Given the description of an element on the screen output the (x, y) to click on. 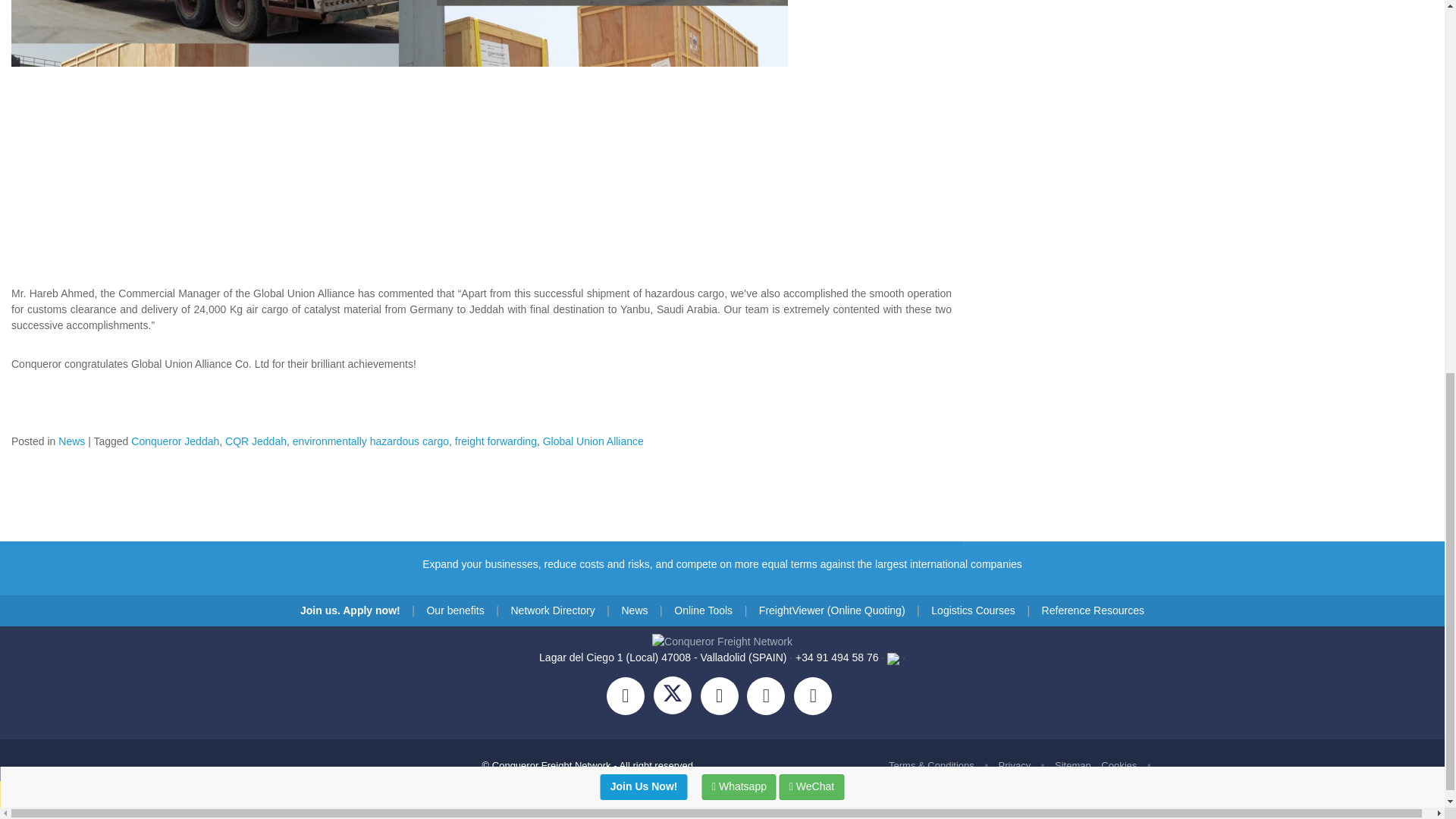
CQR Jeddah (255, 440)
Join us. Apply now! (349, 610)
Network Directory (552, 610)
environmentally hazardous cargo (370, 440)
Our benefits (454, 610)
Instagram (724, 698)
Linkedin (769, 698)
Youtube (815, 698)
freight forwarding (495, 440)
Facebook (630, 698)
Global Union Alliance (593, 440)
Conqueror Jeddah (175, 440)
News (71, 440)
News (634, 610)
Twitter (676, 698)
